Given the description of an element on the screen output the (x, y) to click on. 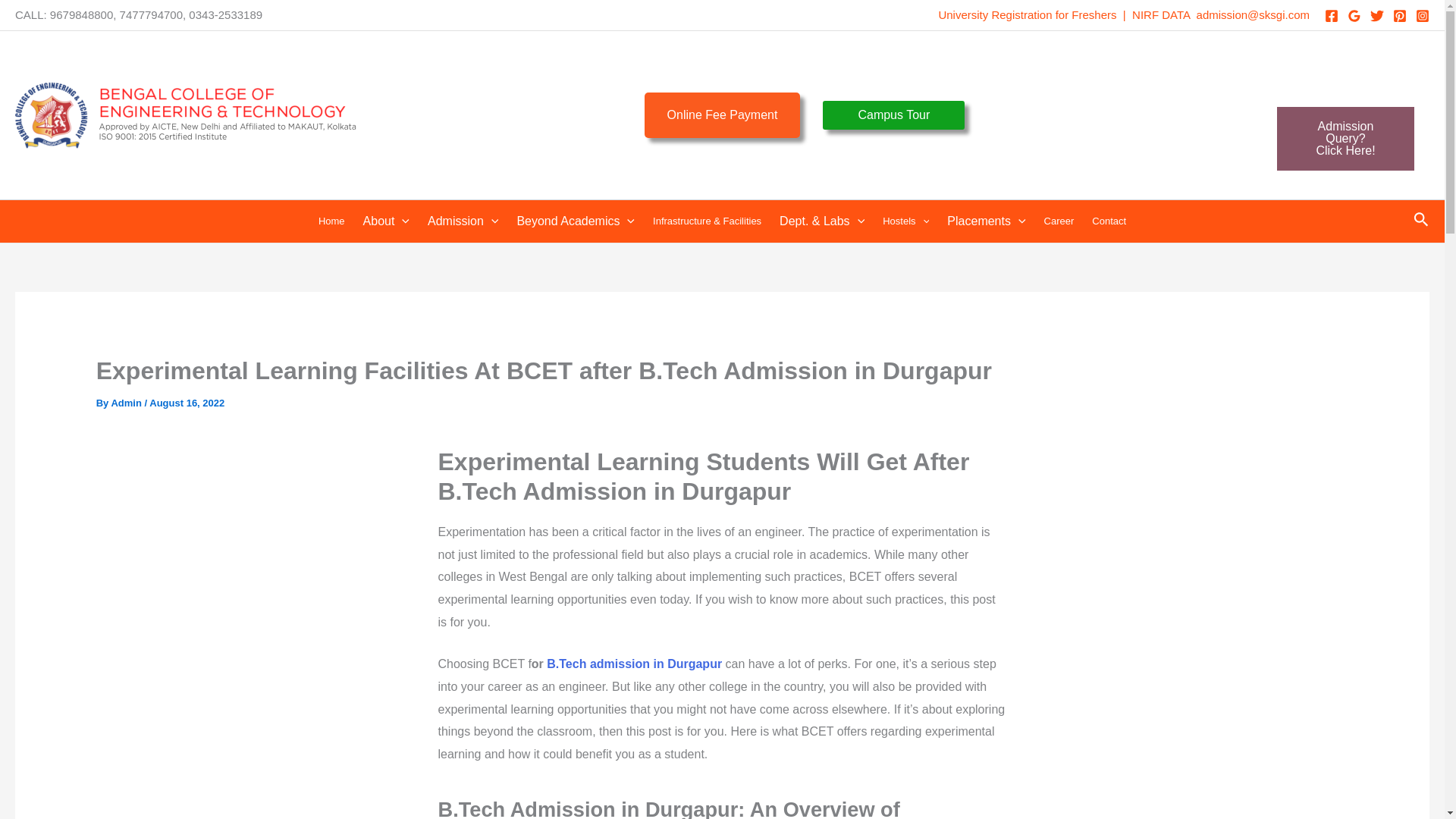
Campus Tour (892, 114)
University Registration for Freshers (1026, 14)
Admission (462, 220)
View all posts by Admin (127, 402)
About (386, 220)
NIRF DATA (1160, 14)
Online Fee Payment (1344, 138)
Home (722, 115)
